Given the description of an element on the screen output the (x, y) to click on. 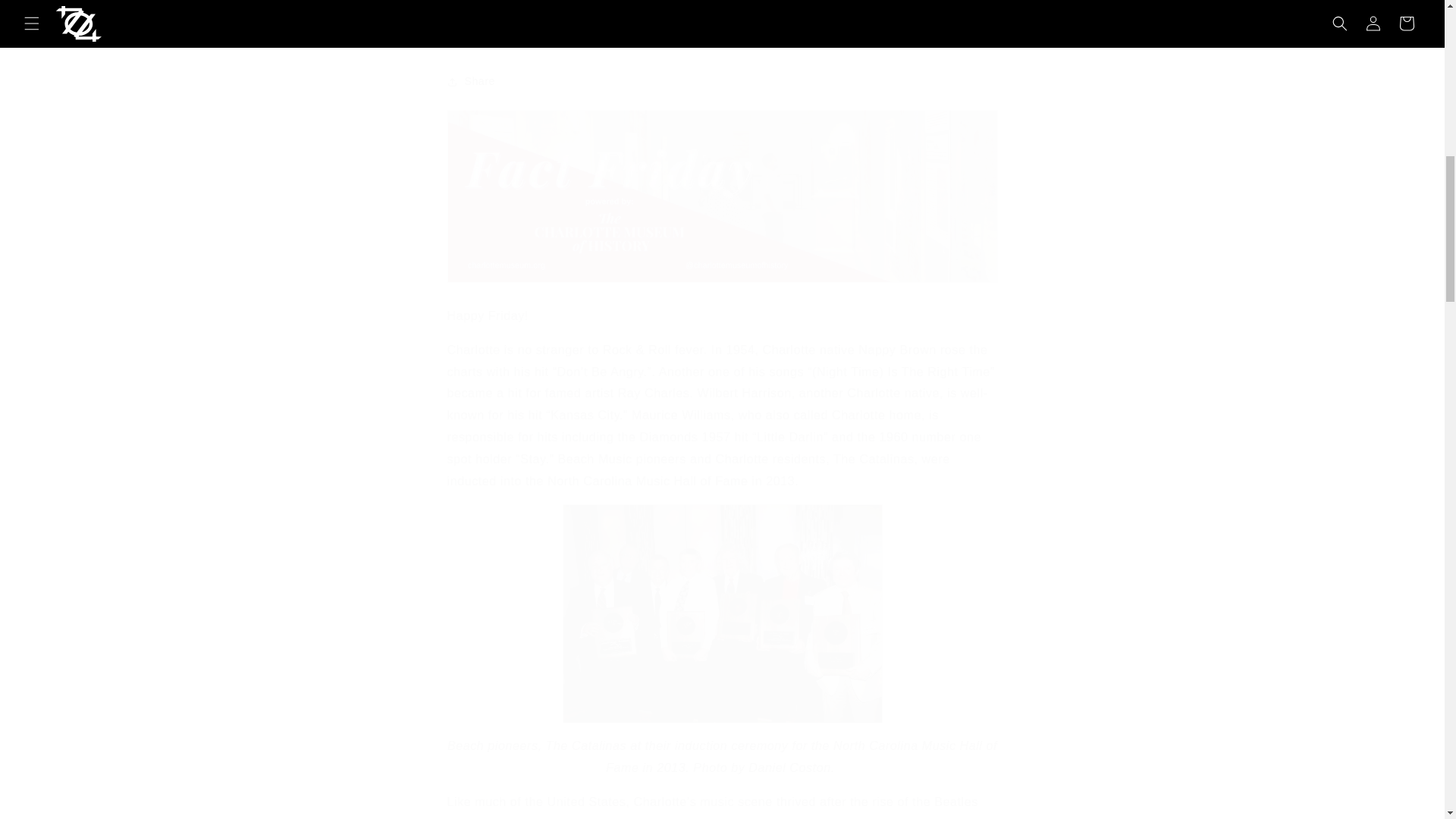
Share (721, 81)
